Given the description of an element on the screen output the (x, y) to click on. 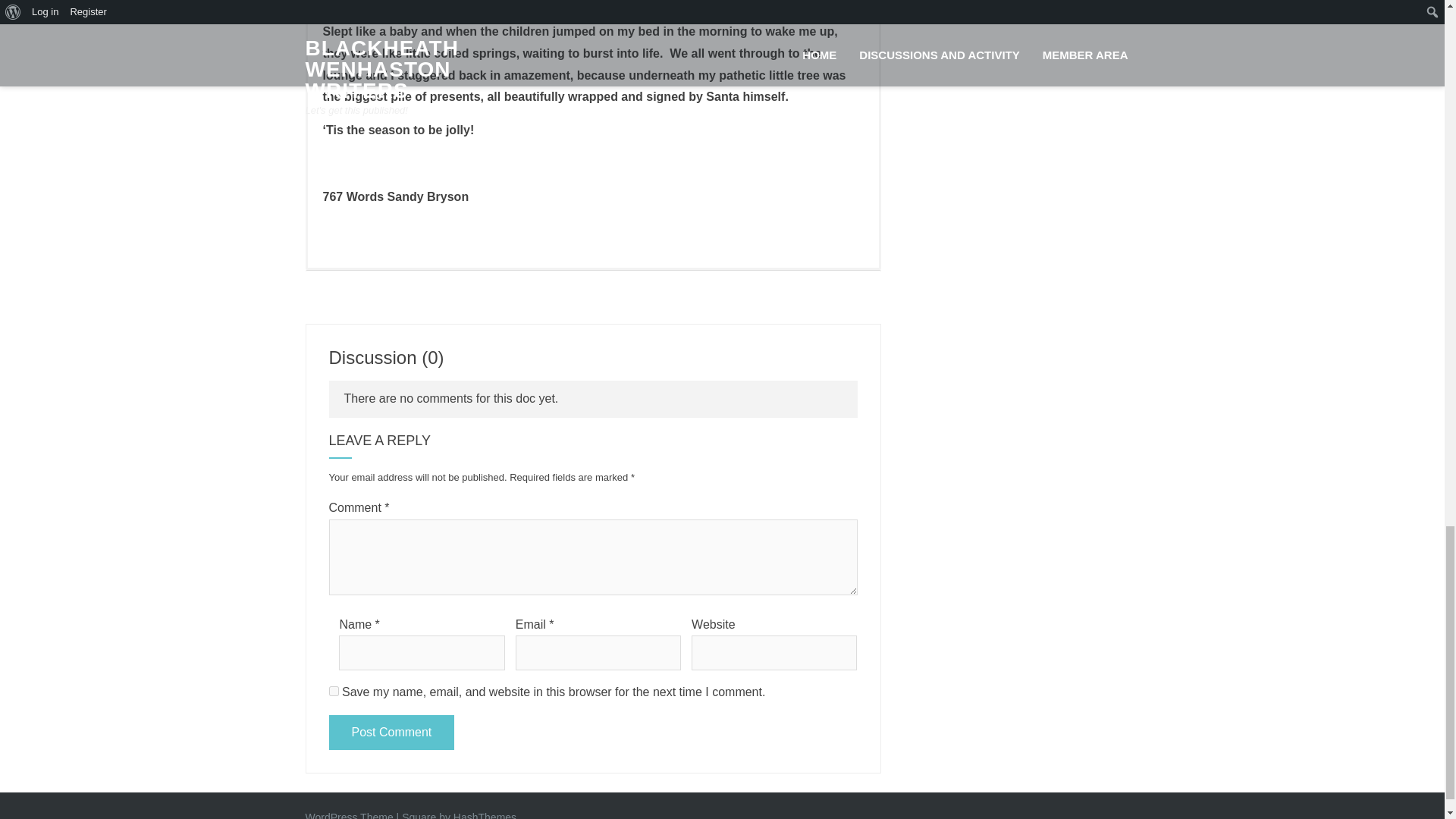
Post Comment (391, 732)
Post Comment (391, 732)
yes (334, 691)
